Given the description of an element on the screen output the (x, y) to click on. 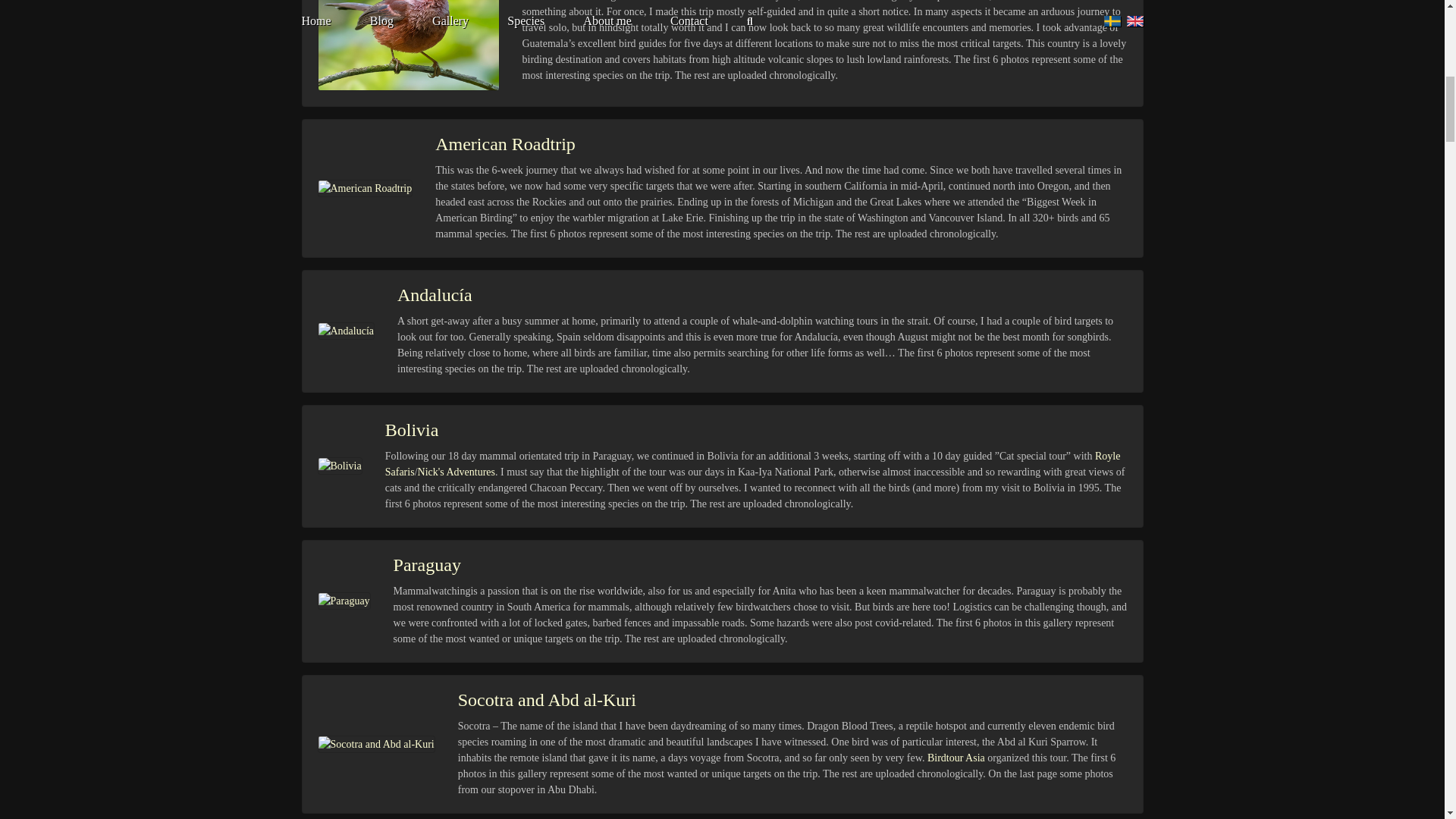
American Roadtrip (505, 143)
